Given the description of an element on the screen output the (x, y) to click on. 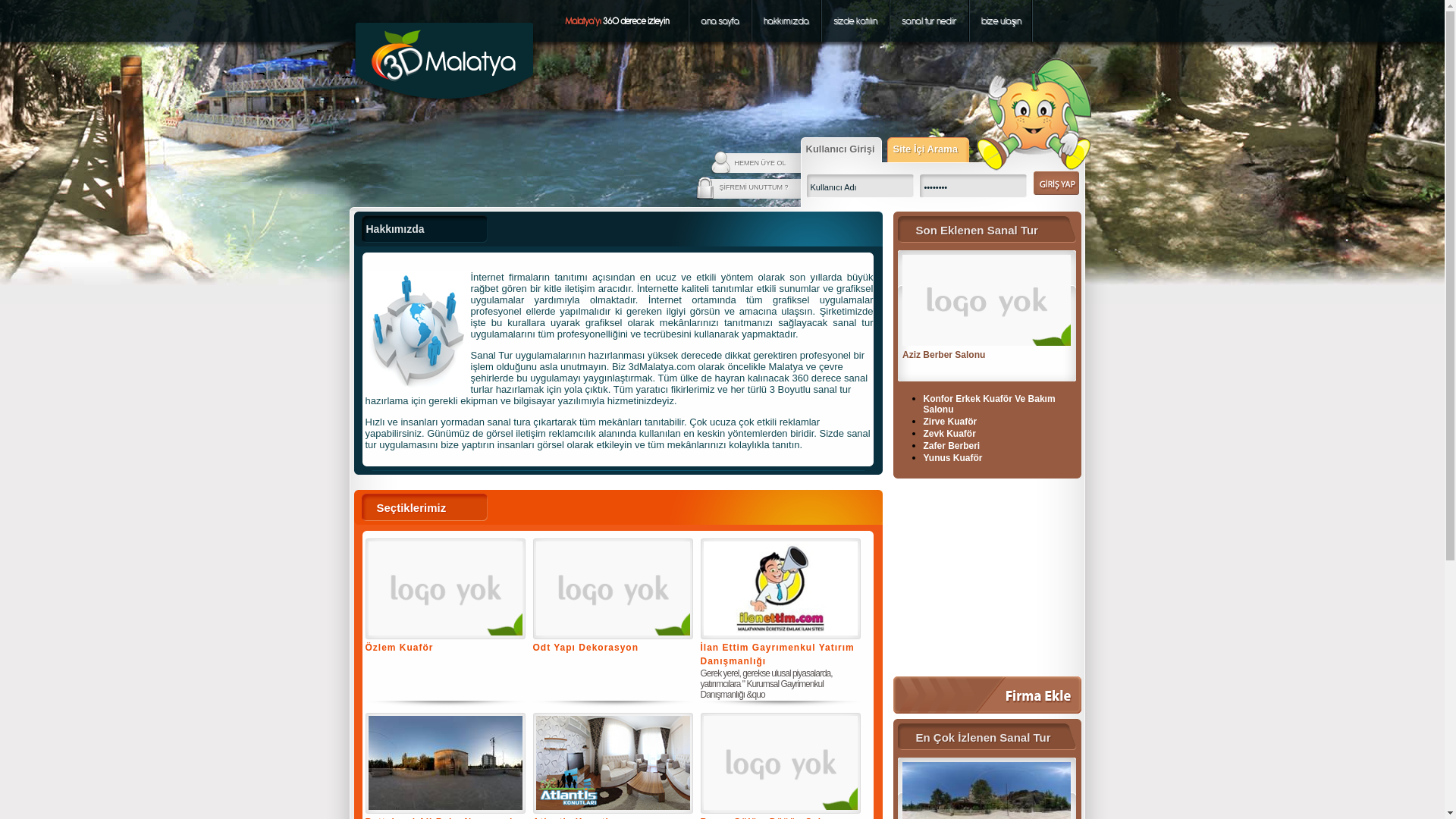
Advertisement Element type: hover (986, 576)
3D Malatya Element type: hover (444, 100)
sanal tur nedir Element type: text (929, 20)
Aziz Berber Salonu Element type: text (943, 354)
ana sayfa Element type: text (720, 20)
Aziz Berber Salonu Element type: hover (986, 346)
Zafer Berberi Element type: text (951, 445)
